Given the description of an element on the screen output the (x, y) to click on. 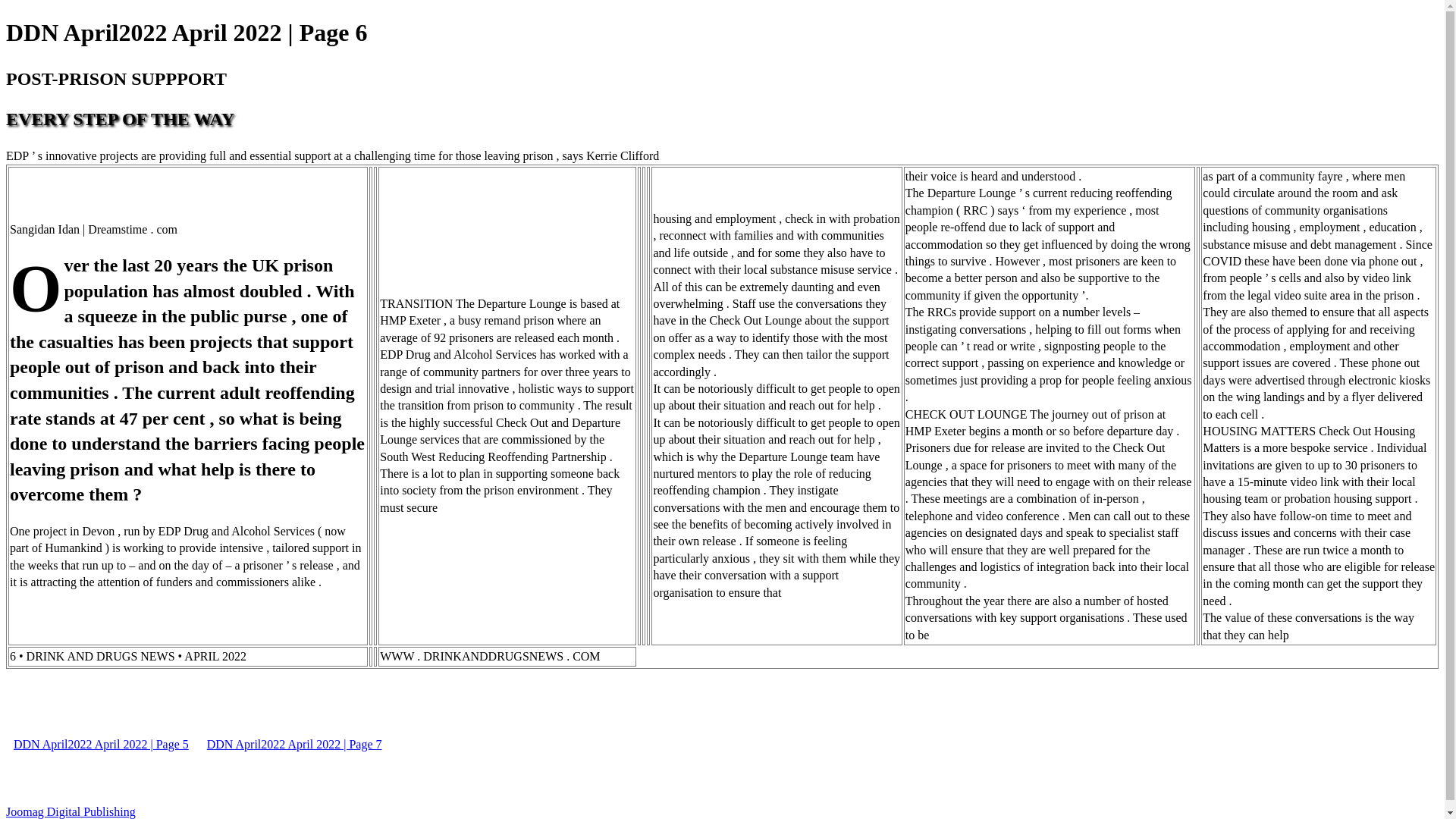
POST-PRISON SUPPPORT (116, 78)
